Given the description of an element on the screen output the (x, y) to click on. 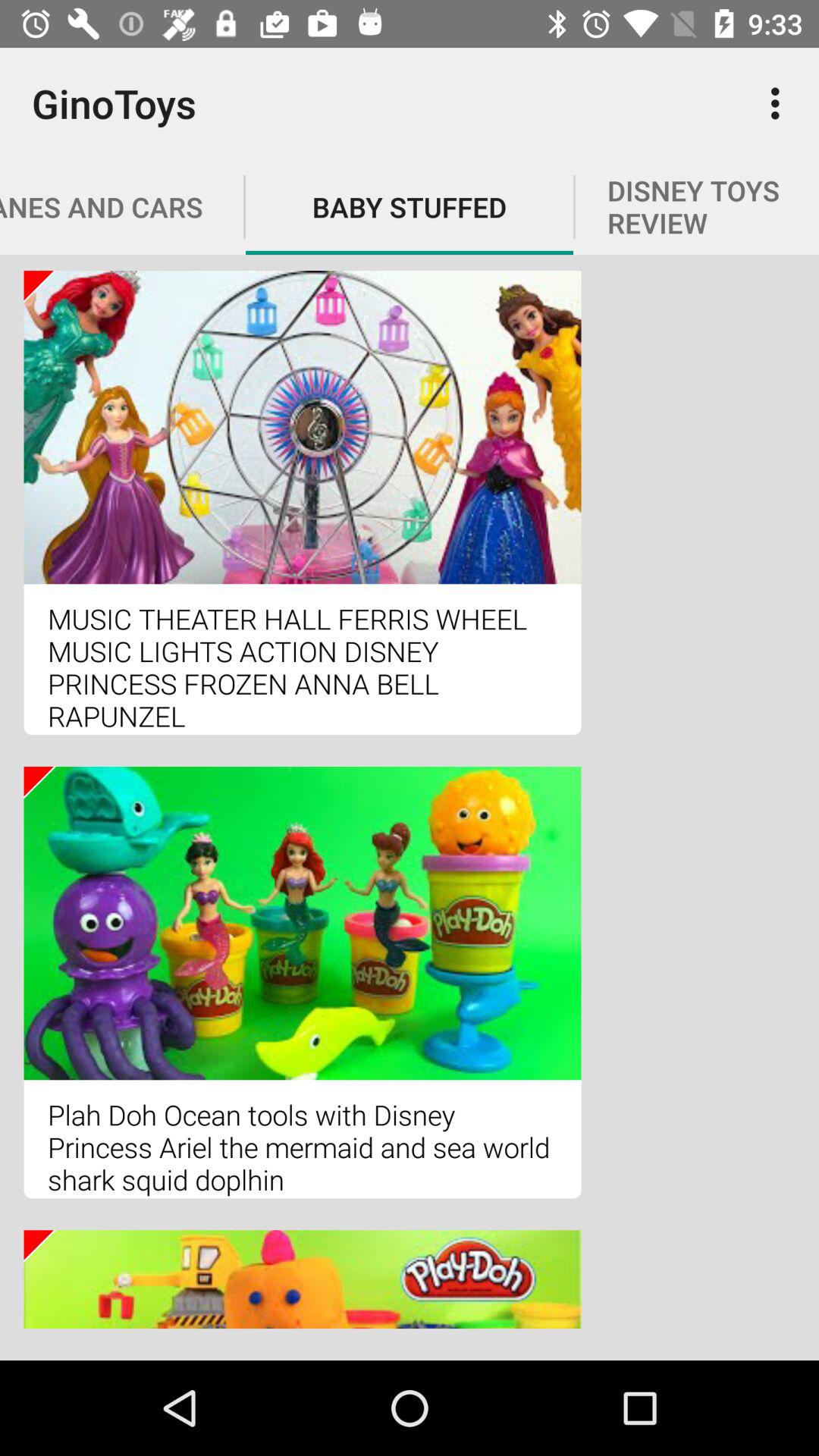
open the icon above the disney toys review (779, 103)
